Given the description of an element on the screen output the (x, y) to click on. 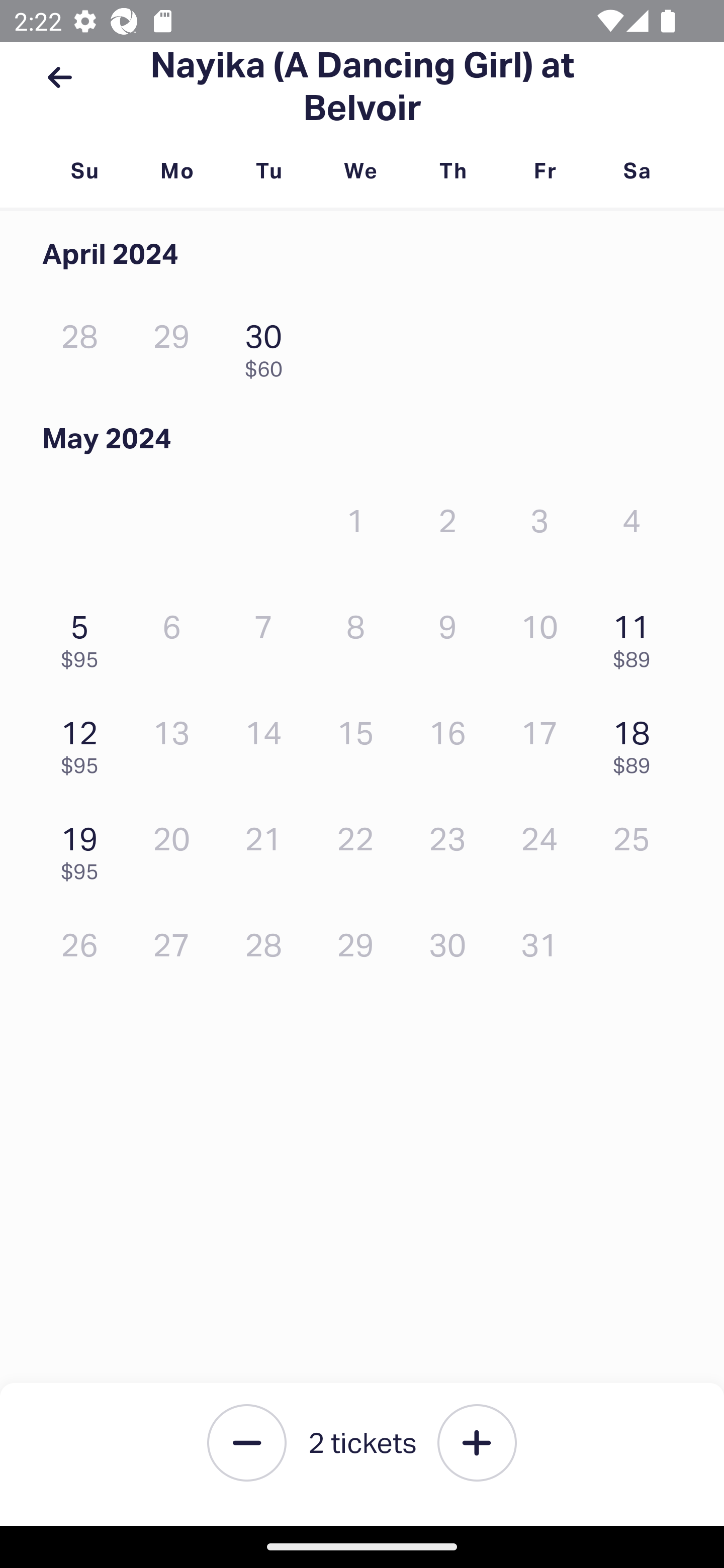
back button (59, 77)
30 $60 (268, 345)
5 $95 (84, 636)
11 $89 (636, 636)
12 $95 (84, 742)
18 $89 (636, 742)
19 $95 (84, 848)
